Given the description of an element on the screen output the (x, y) to click on. 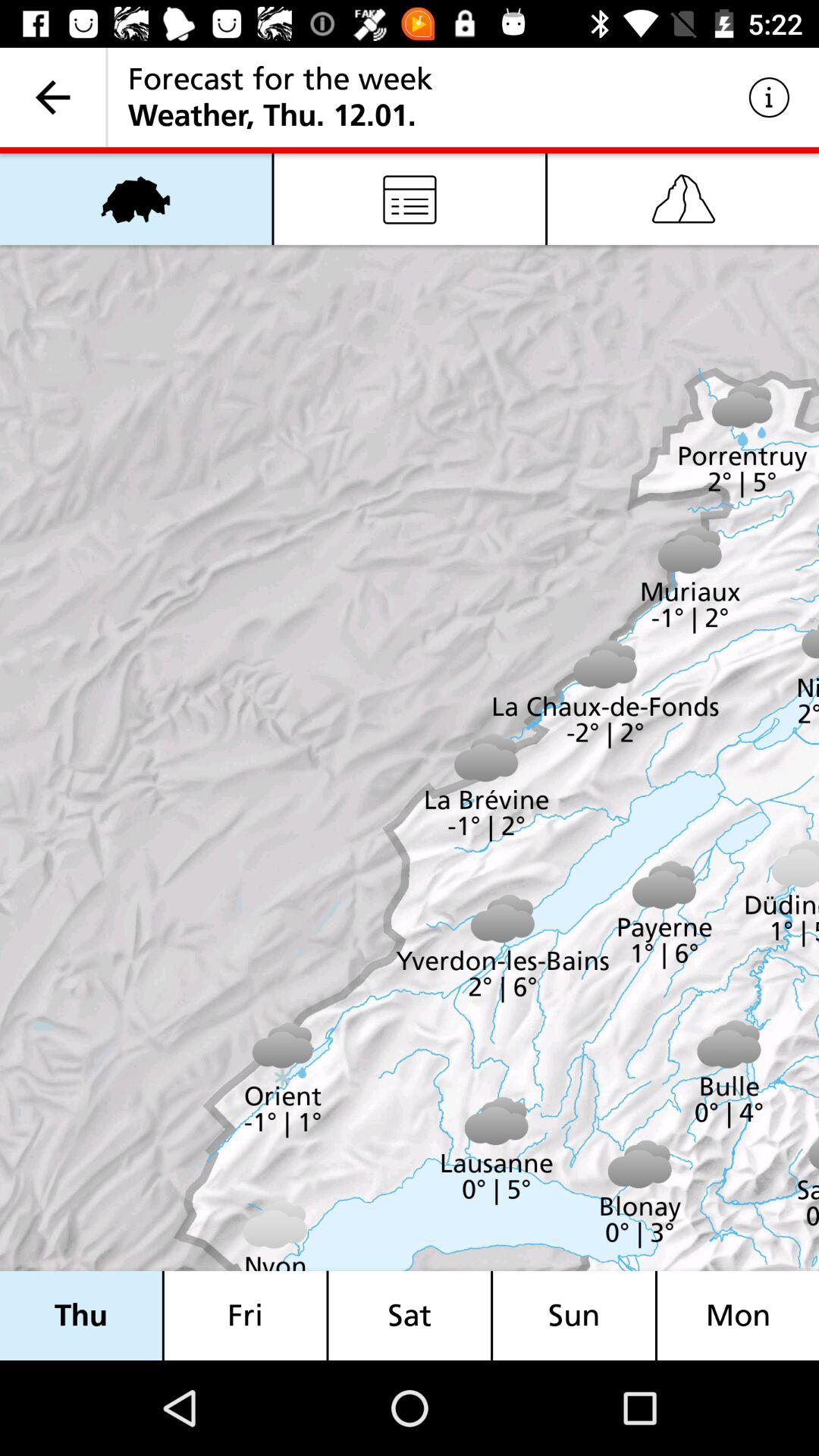
turn off the item to the left of the mon icon (574, 1315)
